Given the description of an element on the screen output the (x, y) to click on. 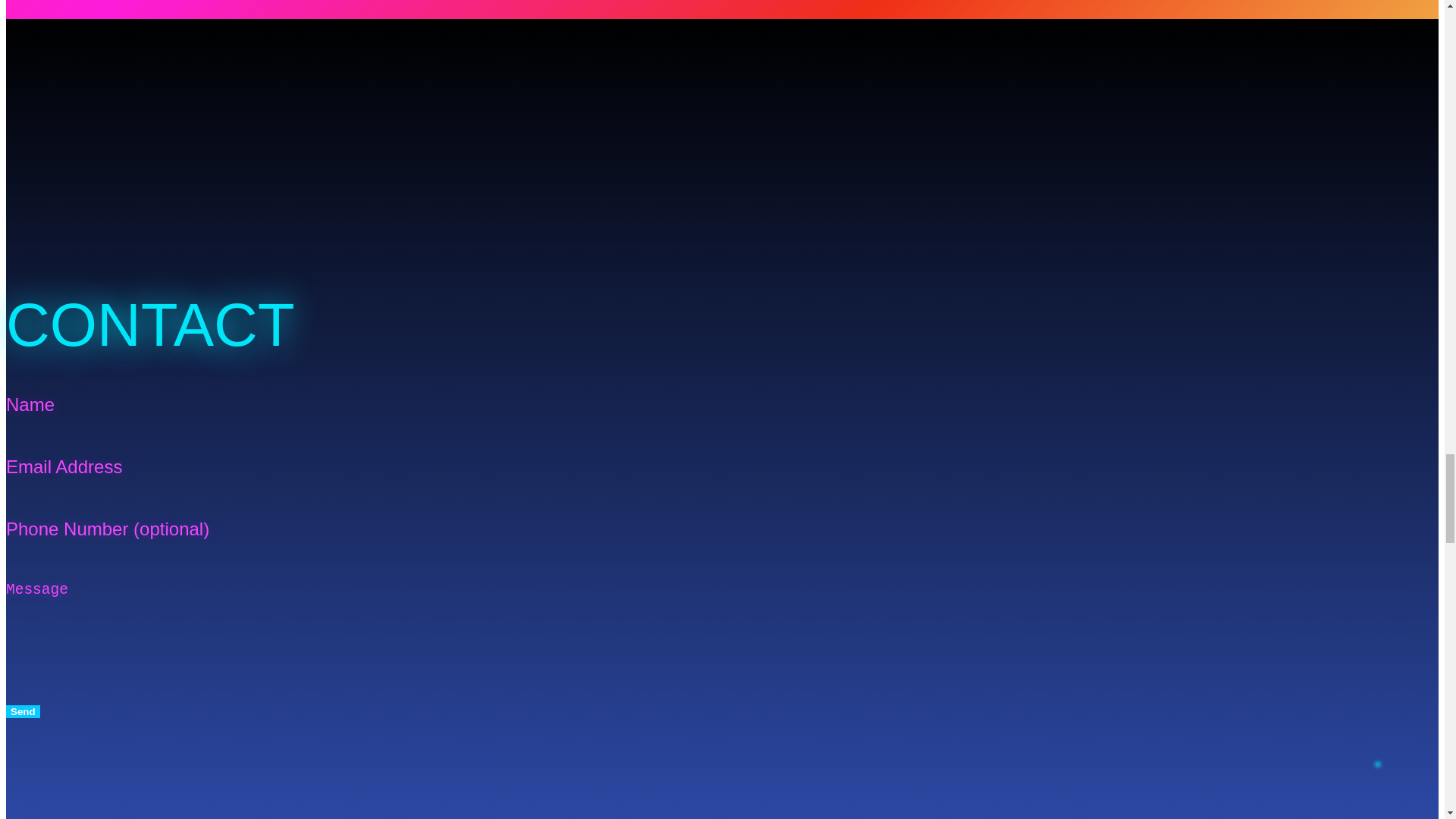
Send (22, 711)
